Given the description of an element on the screen output the (x, y) to click on. 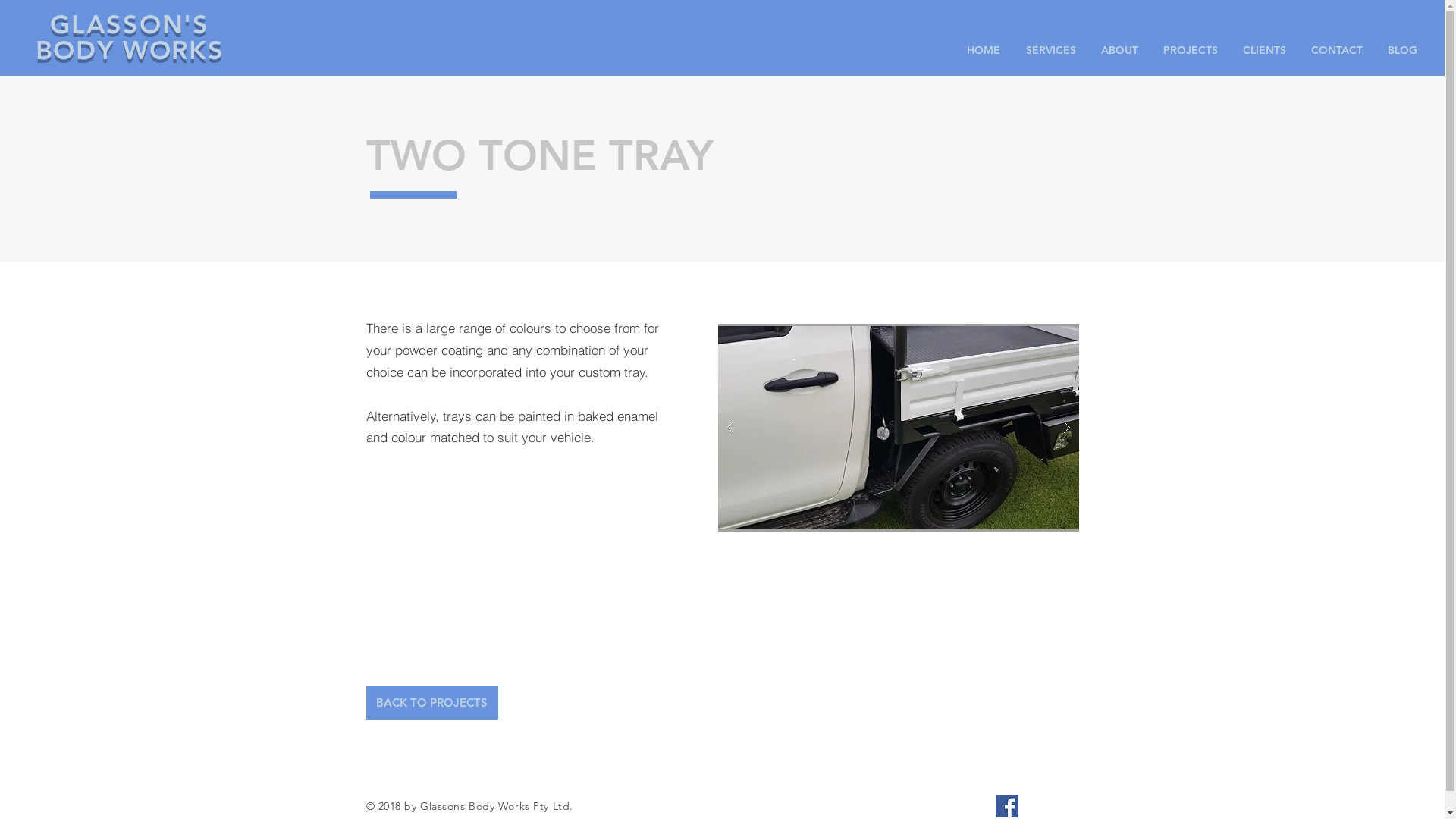
HOME Element type: text (983, 50)
PROJECTS Element type: text (1190, 50)
SERVICES Element type: text (1050, 50)
CLIENTS Element type: text (1264, 50)
BACK TO PROJECTS Element type: text (431, 702)
ABOUT Element type: text (1119, 50)
GLASSON'S Element type: text (129, 24)
CONTACT Element type: text (1336, 50)
BLOG Element type: text (1401, 50)
